Given the description of an element on the screen output the (x, y) to click on. 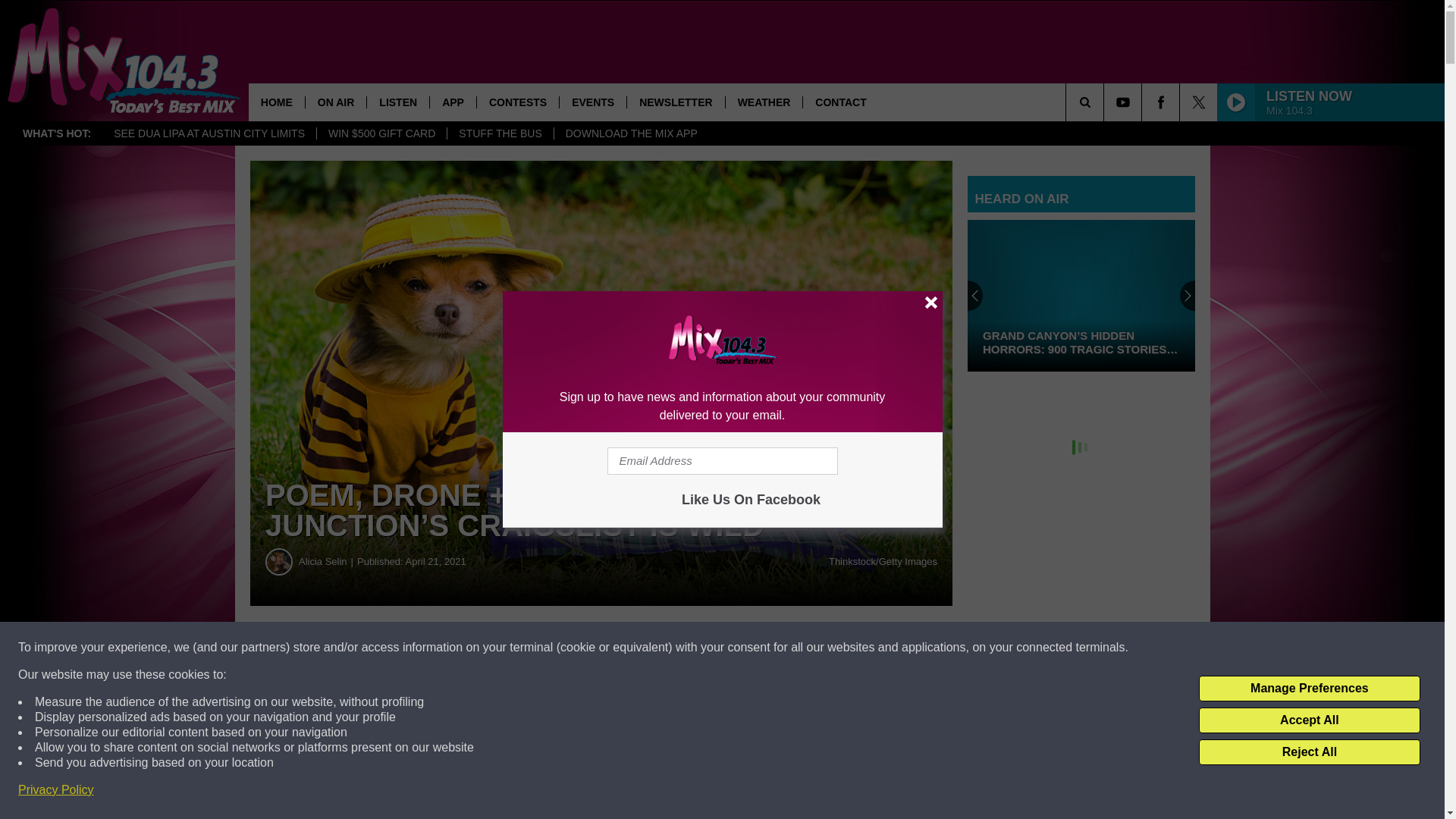
SEARCH (1106, 102)
SEE DUA LIPA AT AUSTIN CITY LIMITS (208, 133)
LISTEN (397, 102)
Email Address (722, 461)
CONTESTS (517, 102)
EVENTS (592, 102)
HOME (276, 102)
Share on Twitter (741, 647)
Accept All (1309, 720)
WHAT'S HOT: (56, 133)
Manage Preferences (1309, 688)
Share on Facebook (460, 647)
Reject All (1309, 751)
ON AIR (335, 102)
SEARCH (1106, 102)
